Given the description of an element on the screen output the (x, y) to click on. 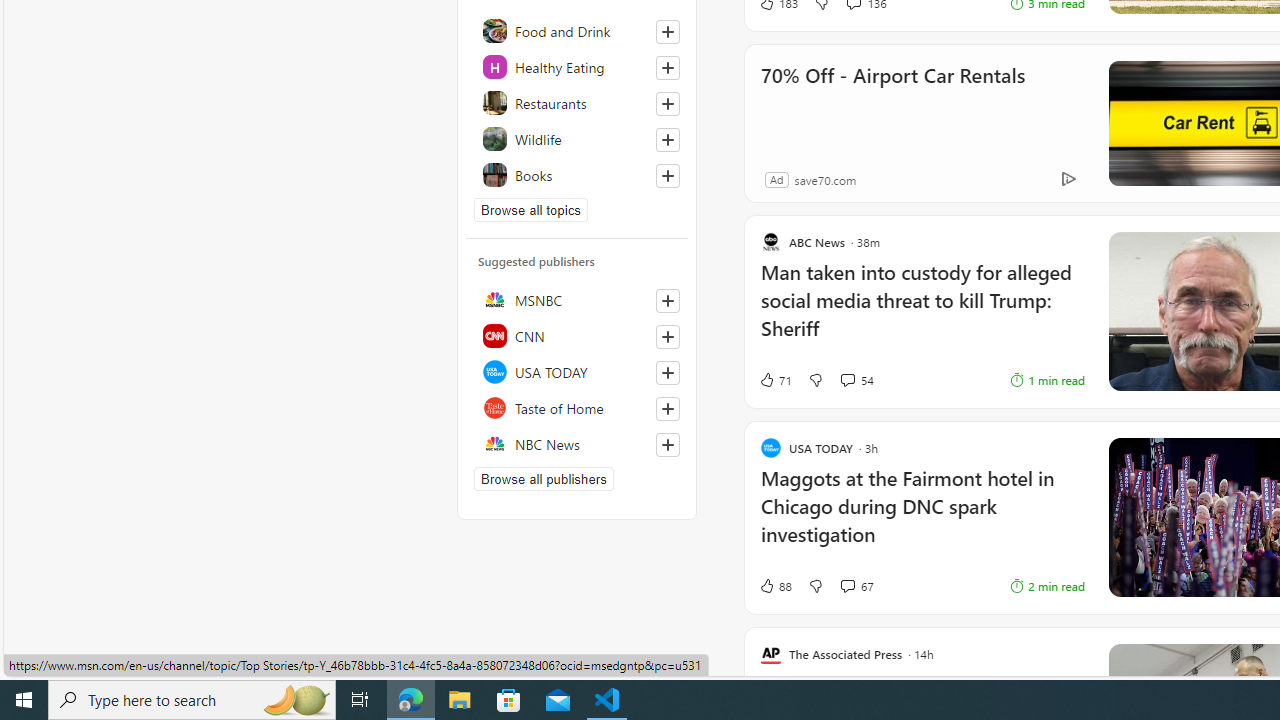
70% Off - Airport Car Rentals (892, 102)
MSNBC (577, 299)
Wildlife (577, 138)
Restaurants (577, 102)
Taste of Home (577, 407)
View comments 54 Comment (847, 380)
88 Like (775, 585)
Food and Drink (577, 30)
Browse all topics (530, 209)
